Given the description of an element on the screen output the (x, y) to click on. 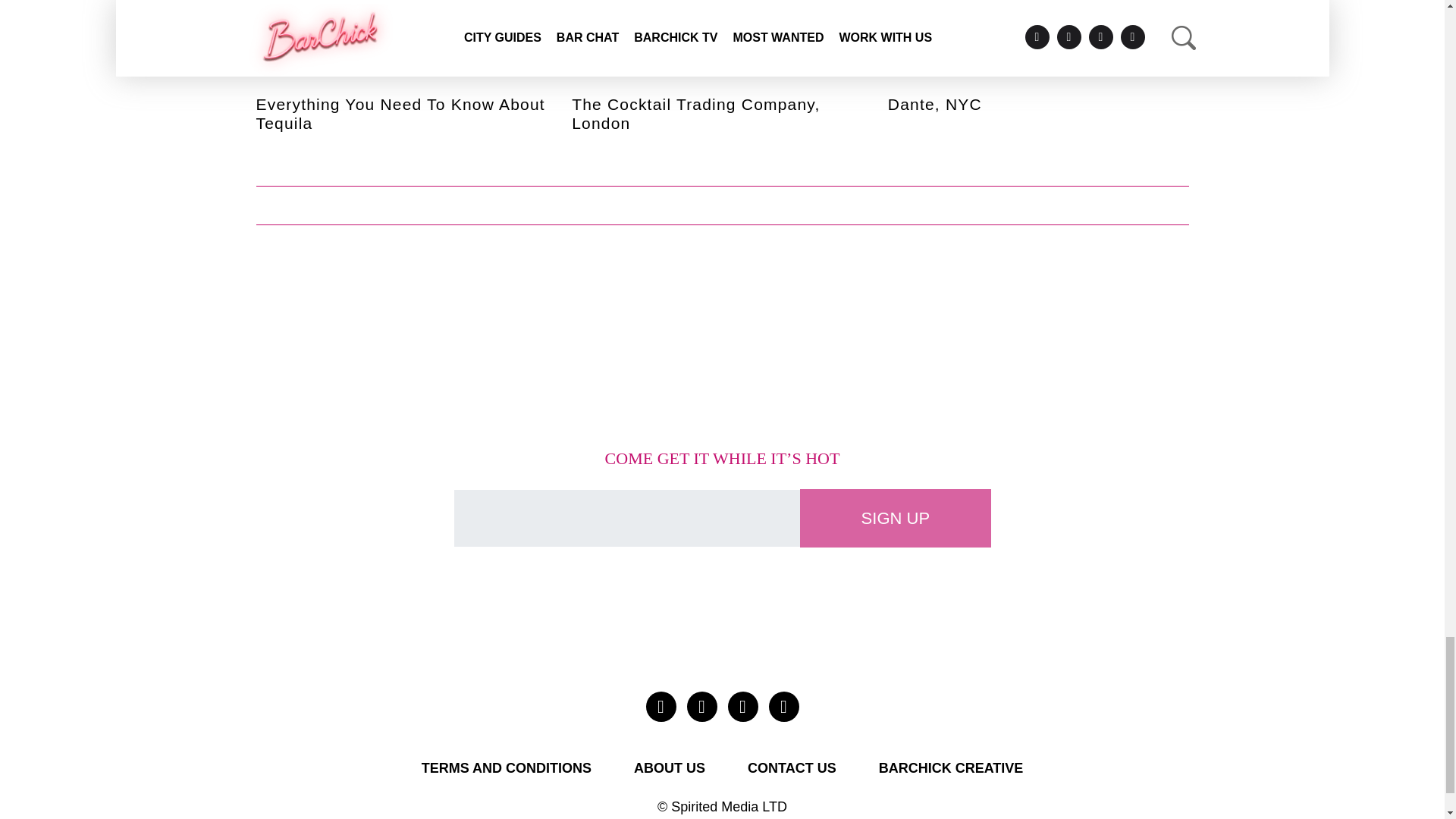
ABOUT US (669, 768)
TERMS AND CONDITIONS (506, 768)
Spirited Media LTD (729, 806)
ABOUT US (669, 768)
TERMS AND CONDITIONS (506, 768)
CONTACT US (791, 768)
BARCHICK CREATIVE (950, 768)
CONTACT US (791, 768)
SIGN UP (895, 517)
BARCHICK CREATIVE (950, 768)
